Given the description of an element on the screen output the (x, y) to click on. 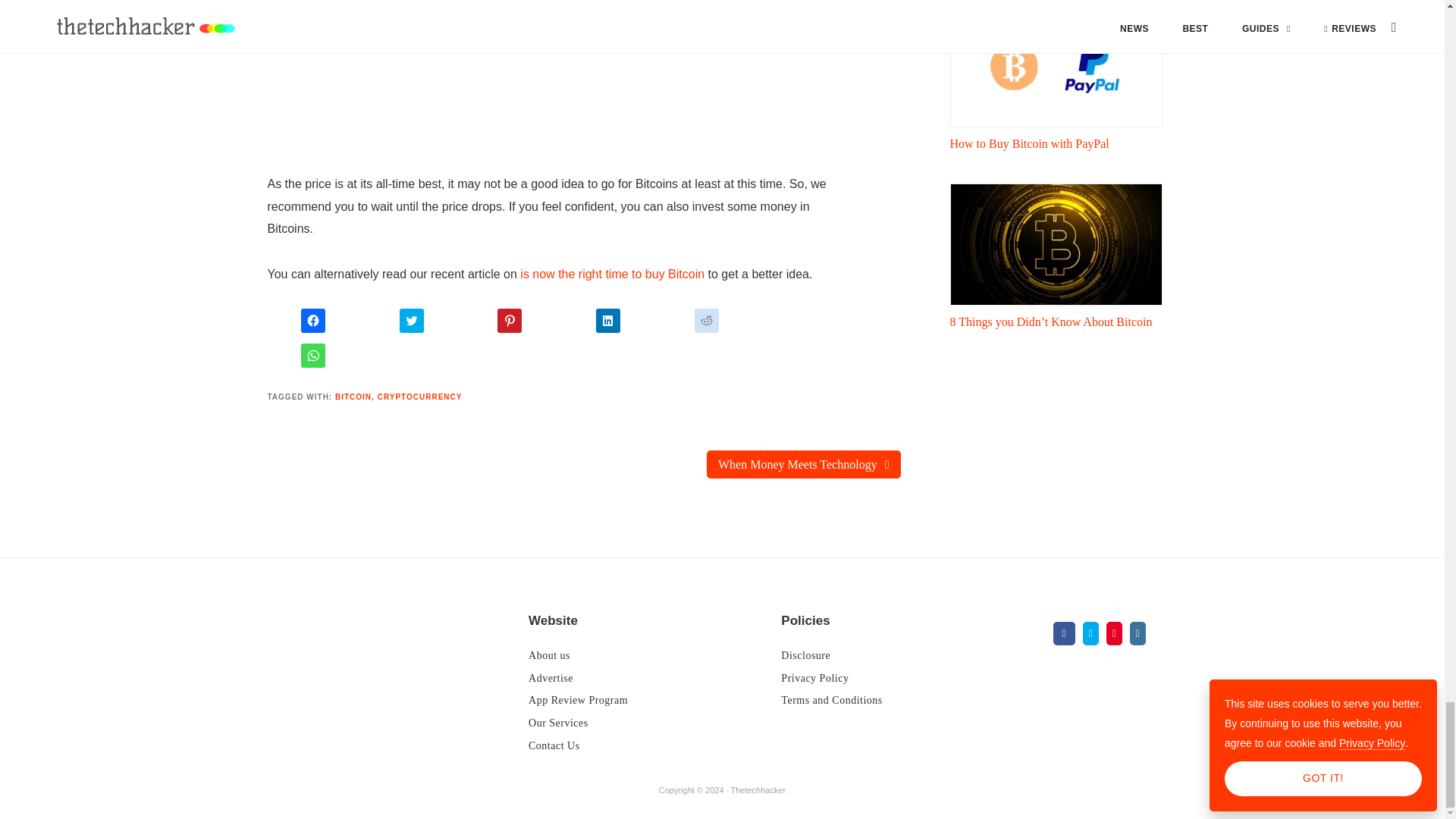
Click to share on Facebook (312, 320)
Click to share on LinkedIn (607, 320)
Click to share on Reddit (706, 320)
Click to share on Twitter (410, 320)
Click to share on WhatsApp (312, 355)
When Money Meets Technology (803, 464)
Click to share on Pinterest (509, 320)
BITCOIN (352, 397)
is now the right time to buy Bitcoin (611, 273)
CRYPTOCURRENCY (420, 397)
